Given the description of an element on the screen output the (x, y) to click on. 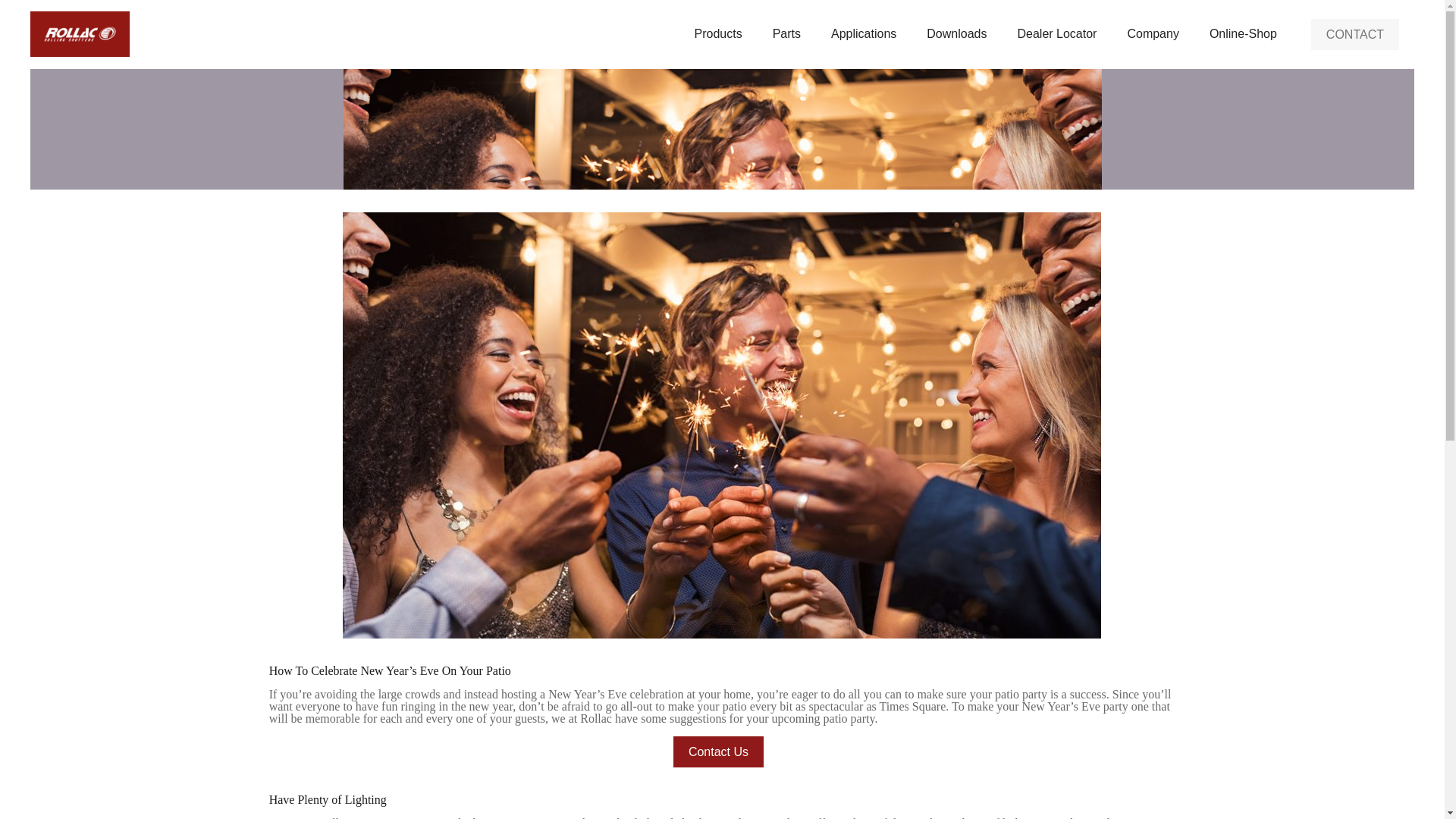
ROLLAC SHUTTERS (79, 33)
Company (1152, 33)
Downloads (956, 33)
Dealer Locator (1056, 33)
Products (718, 33)
CONTACT (1355, 33)
Contact Us (717, 751)
Applications (863, 33)
Online-Shop (1242, 33)
